Given the description of an element on the screen output the (x, y) to click on. 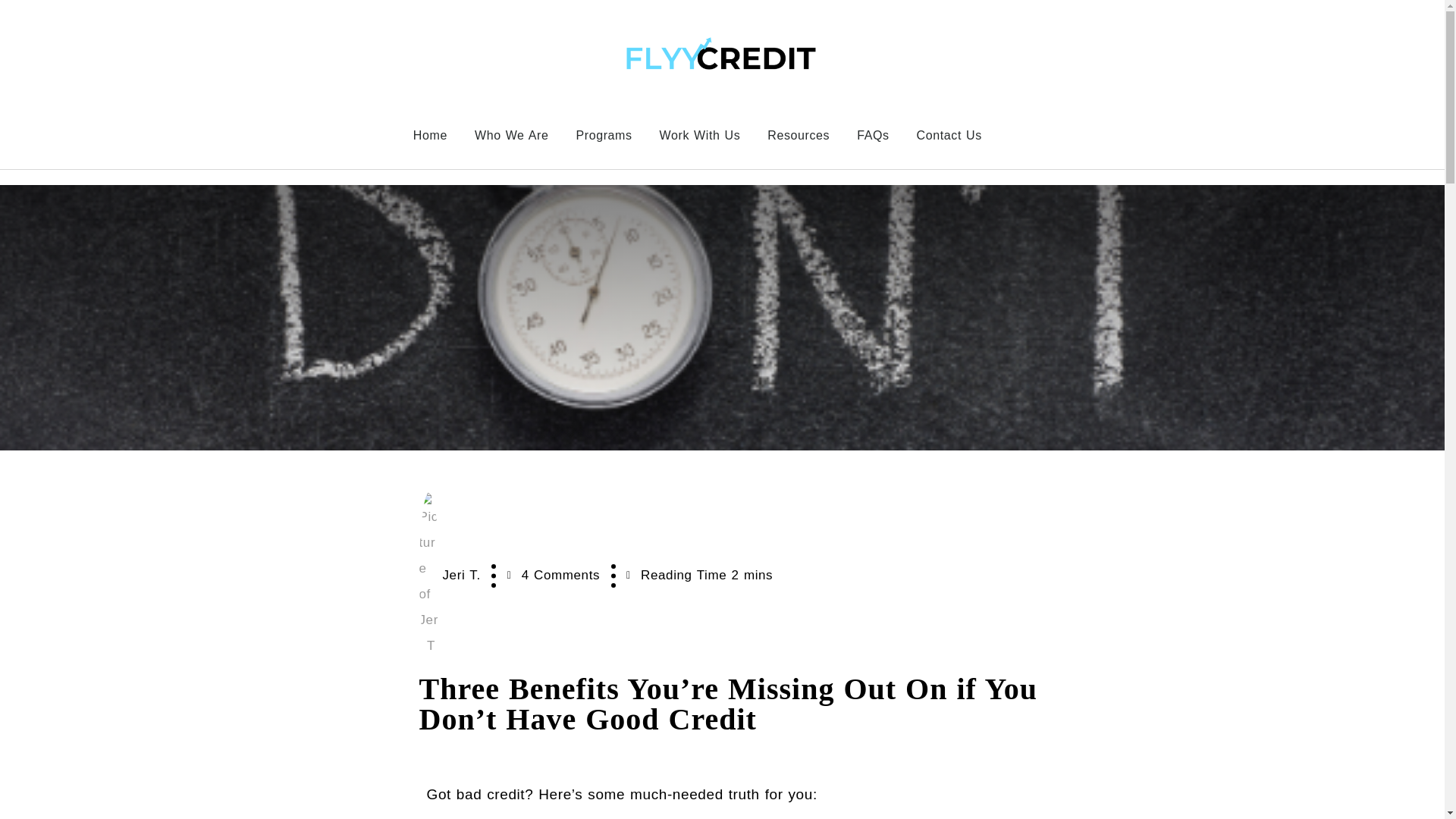
Programs (603, 135)
Work With Us (699, 135)
Who We Are (511, 135)
Contact Us (949, 135)
4 Comments (552, 575)
Resources (798, 135)
